Given the description of an element on the screen output the (x, y) to click on. 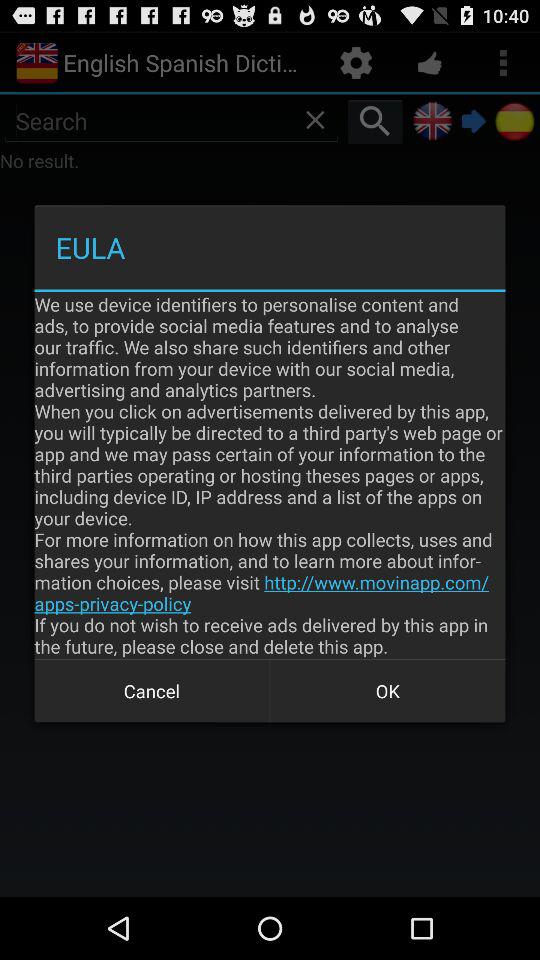
press item above the cancel item (269, 475)
